Given the description of an element on the screen output the (x, y) to click on. 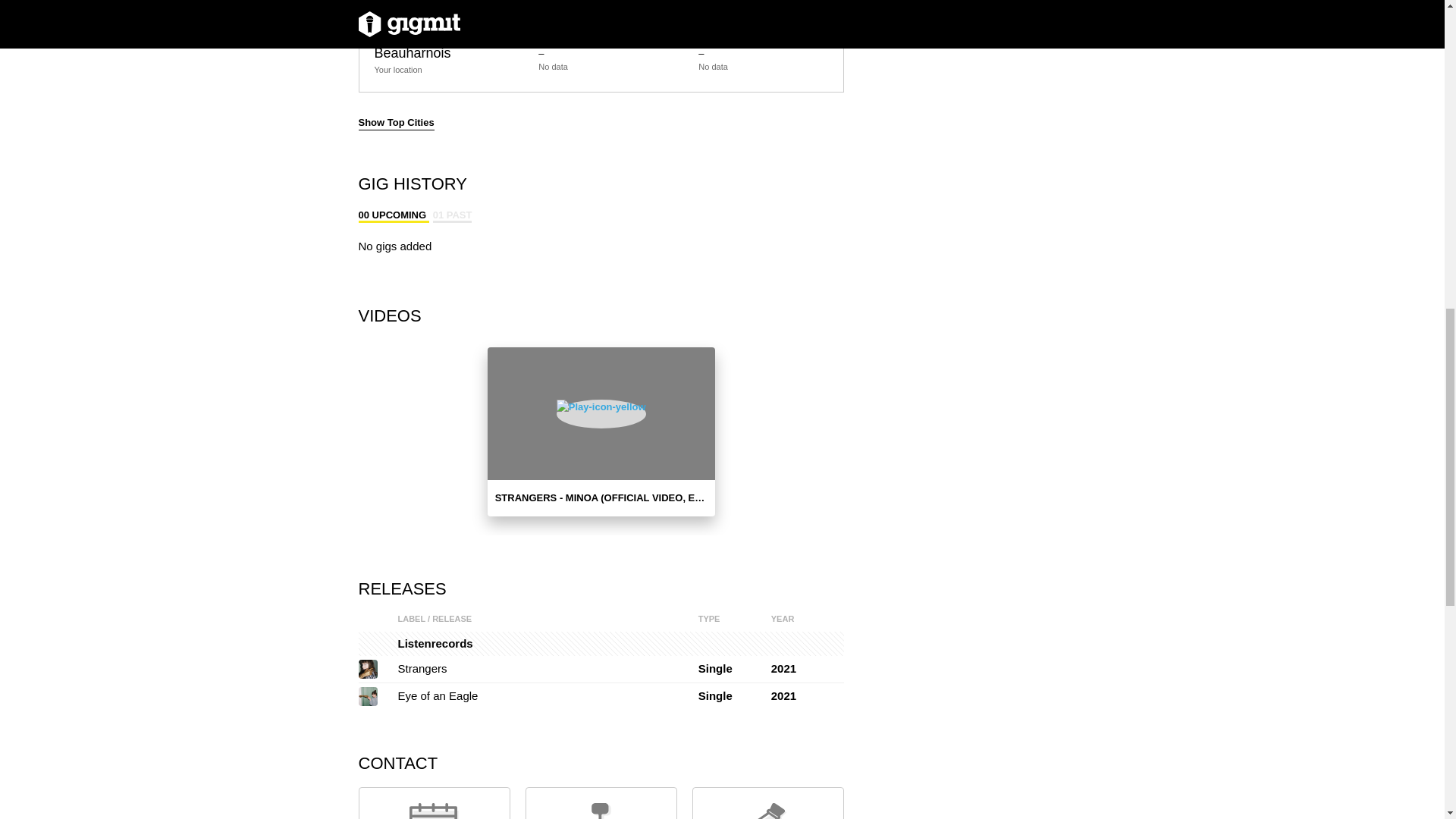
01 PAST (451, 215)
Show Top Cities (395, 123)
00 UPCOMING (393, 215)
